Given the description of an element on the screen output the (x, y) to click on. 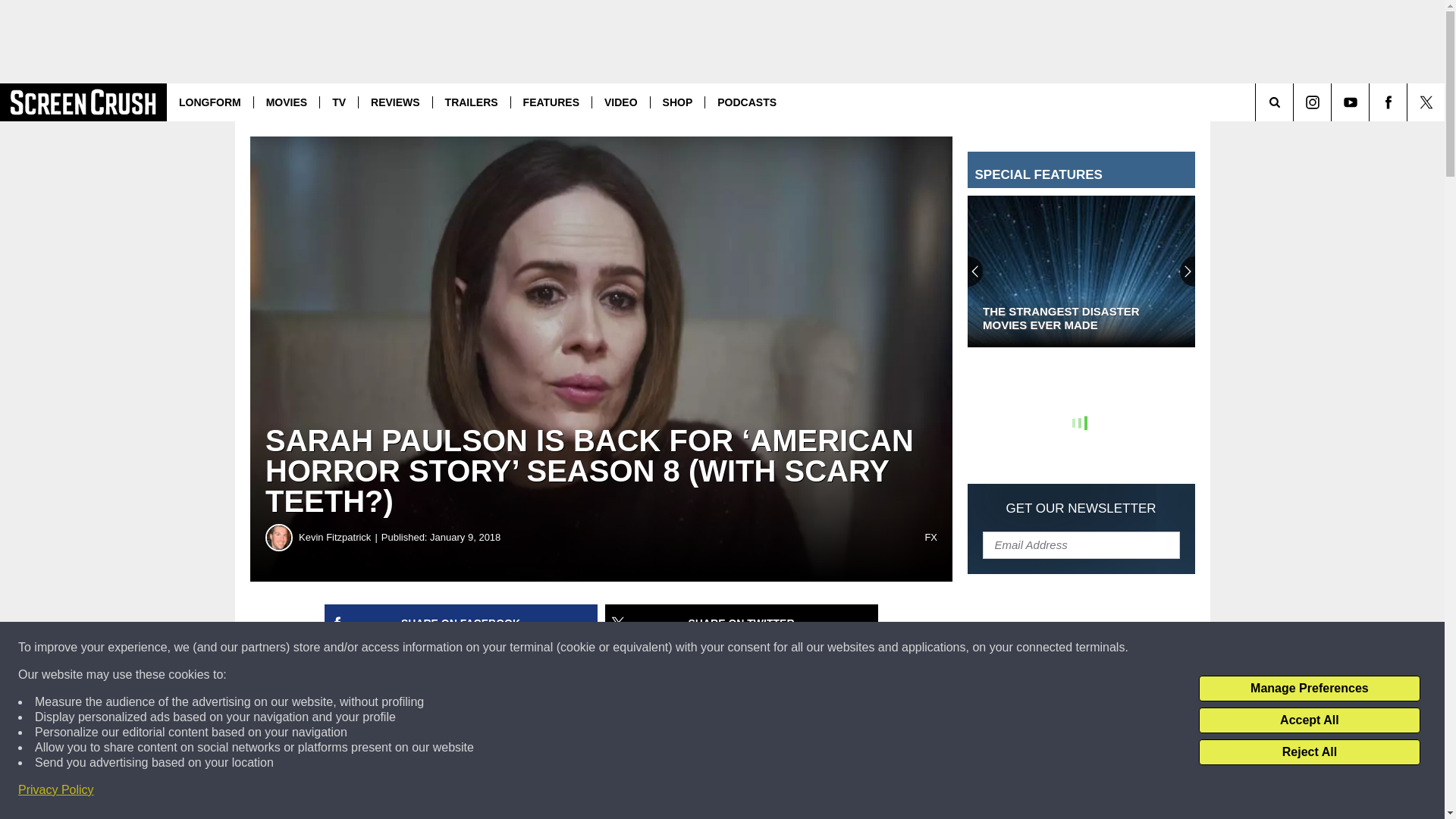
Kevin Fitzpatrick (278, 537)
TRAILERS (471, 102)
take us to the future (782, 700)
SHARE ON TWITTER (741, 623)
LONGFORM (210, 102)
Email Address (1080, 543)
SEARCH (1295, 102)
SEARCH (1295, 102)
MOVIES (285, 102)
REVIEWS (395, 102)
Ryan Murphy (568, 676)
FEATURES (551, 102)
Kevin Fitzpatrick (339, 537)
Accept All (1309, 720)
TV (338, 102)
